Given the description of an element on the screen output the (x, y) to click on. 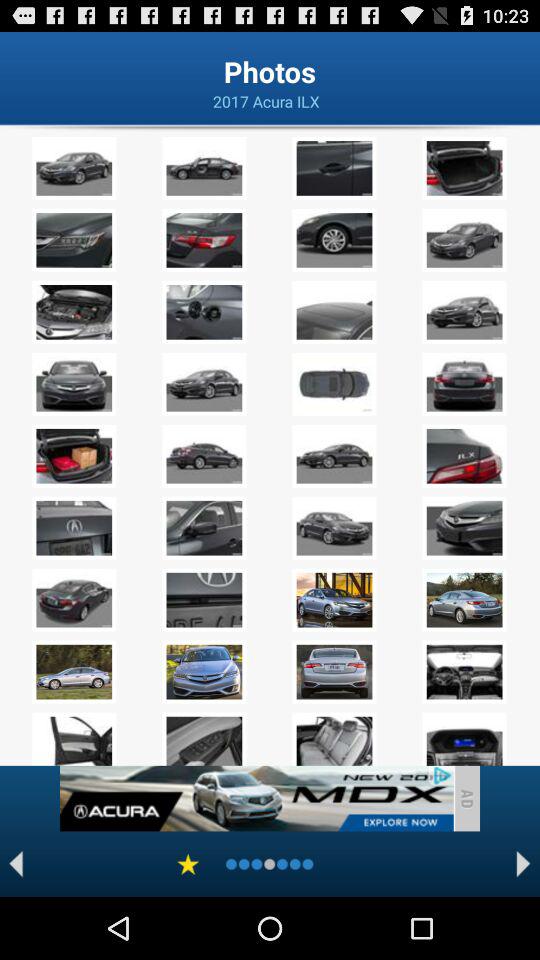
next the option (523, 864)
